Given the description of an element on the screen output the (x, y) to click on. 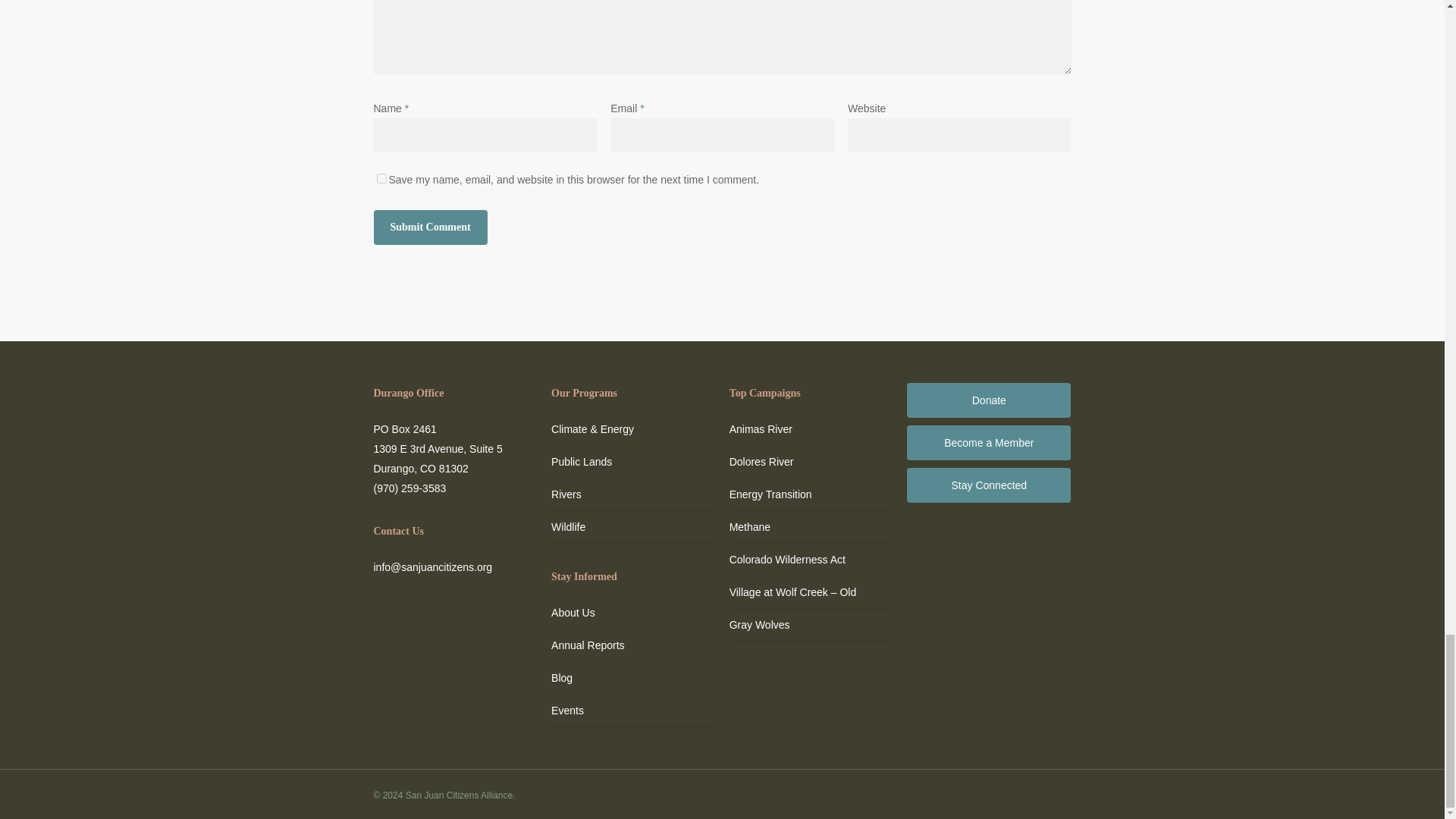
yes (380, 178)
Submit Comment (429, 226)
